Given the description of an element on the screen output the (x, y) to click on. 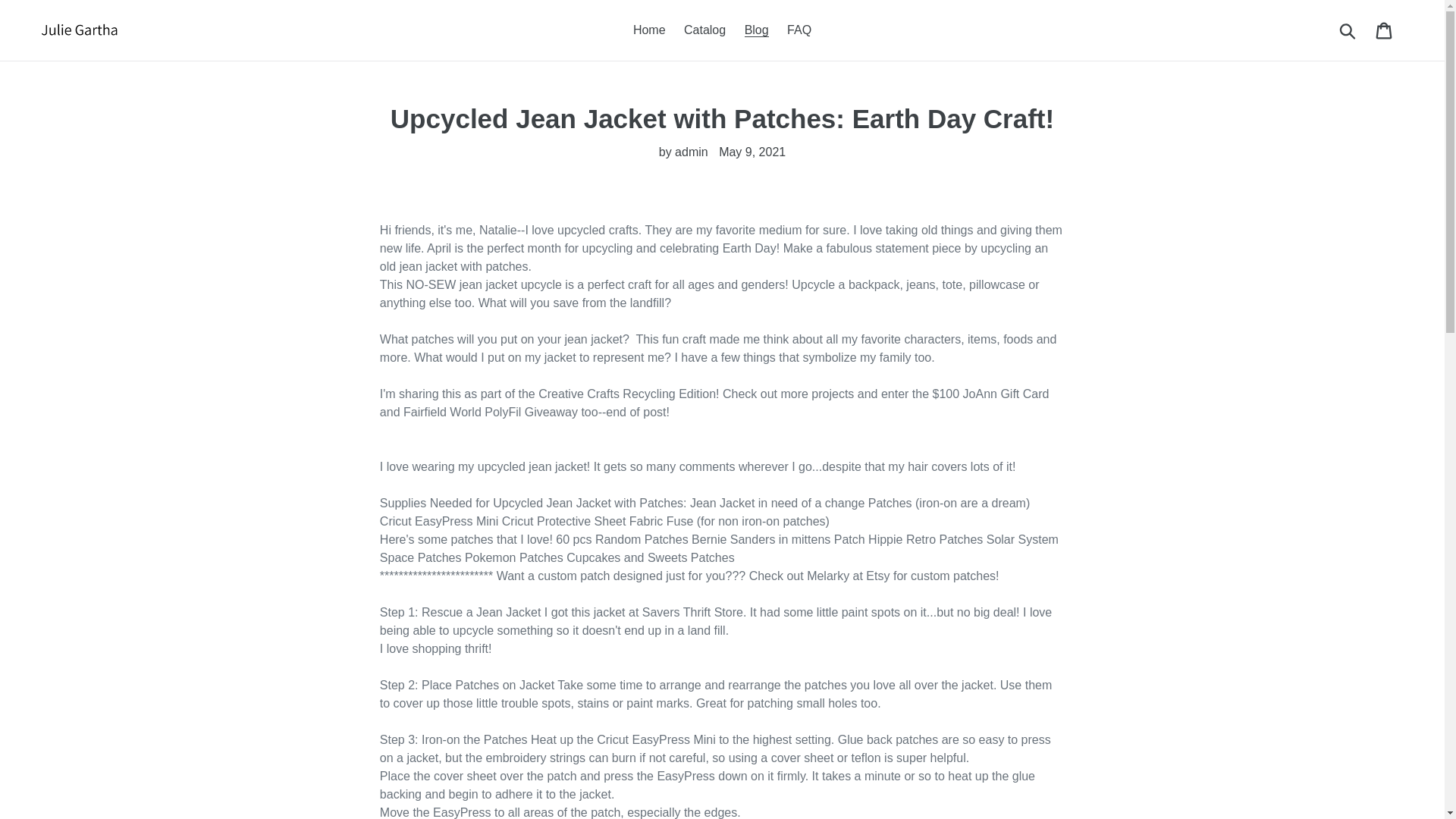
Blog (756, 29)
Catalog (705, 29)
Submit (1348, 29)
Cart (1385, 29)
FAQ (798, 29)
Home (649, 29)
